Given the description of an element on the screen output the (x, y) to click on. 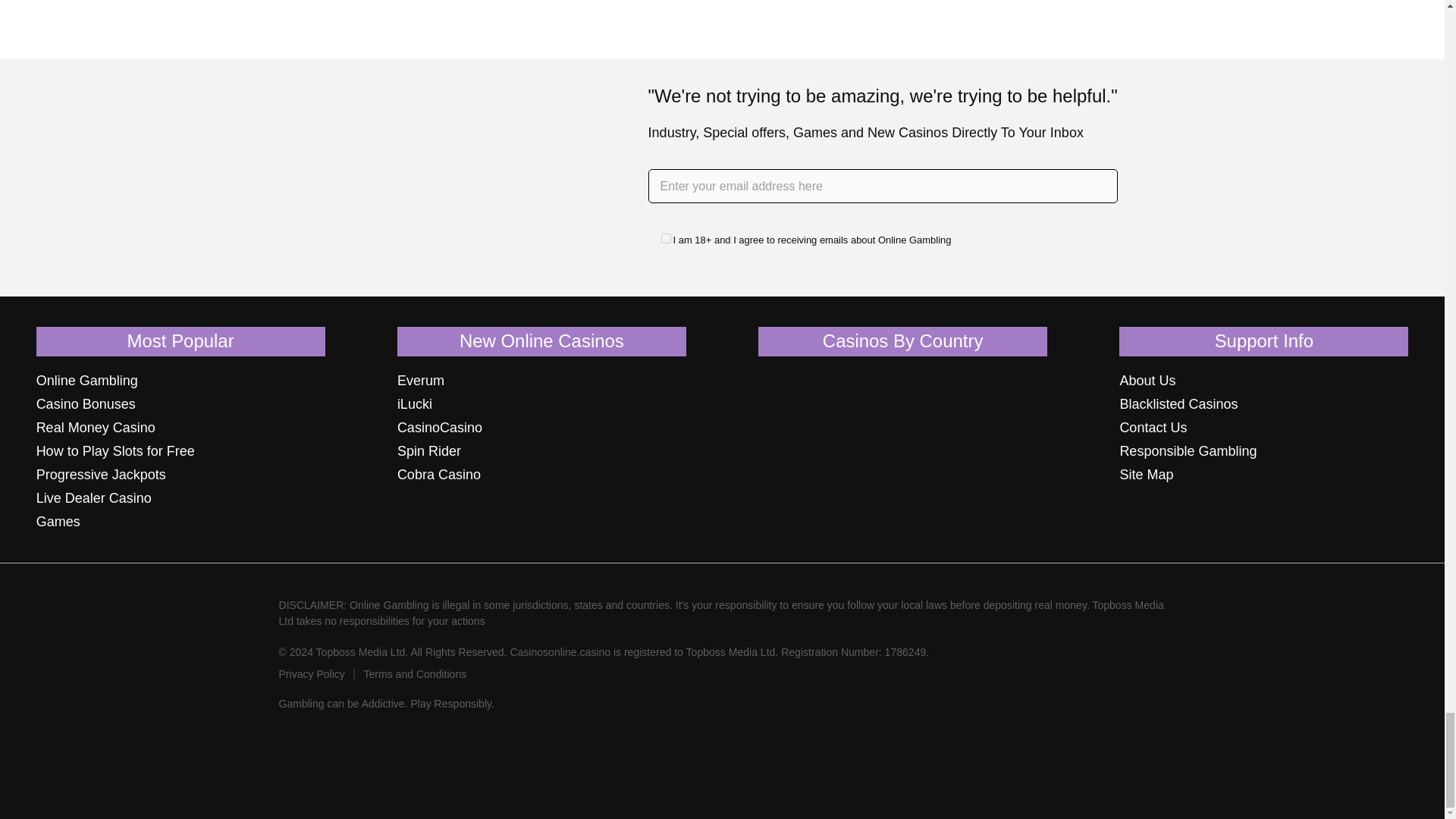
1 (666, 238)
